Given the description of an element on the screen output the (x, y) to click on. 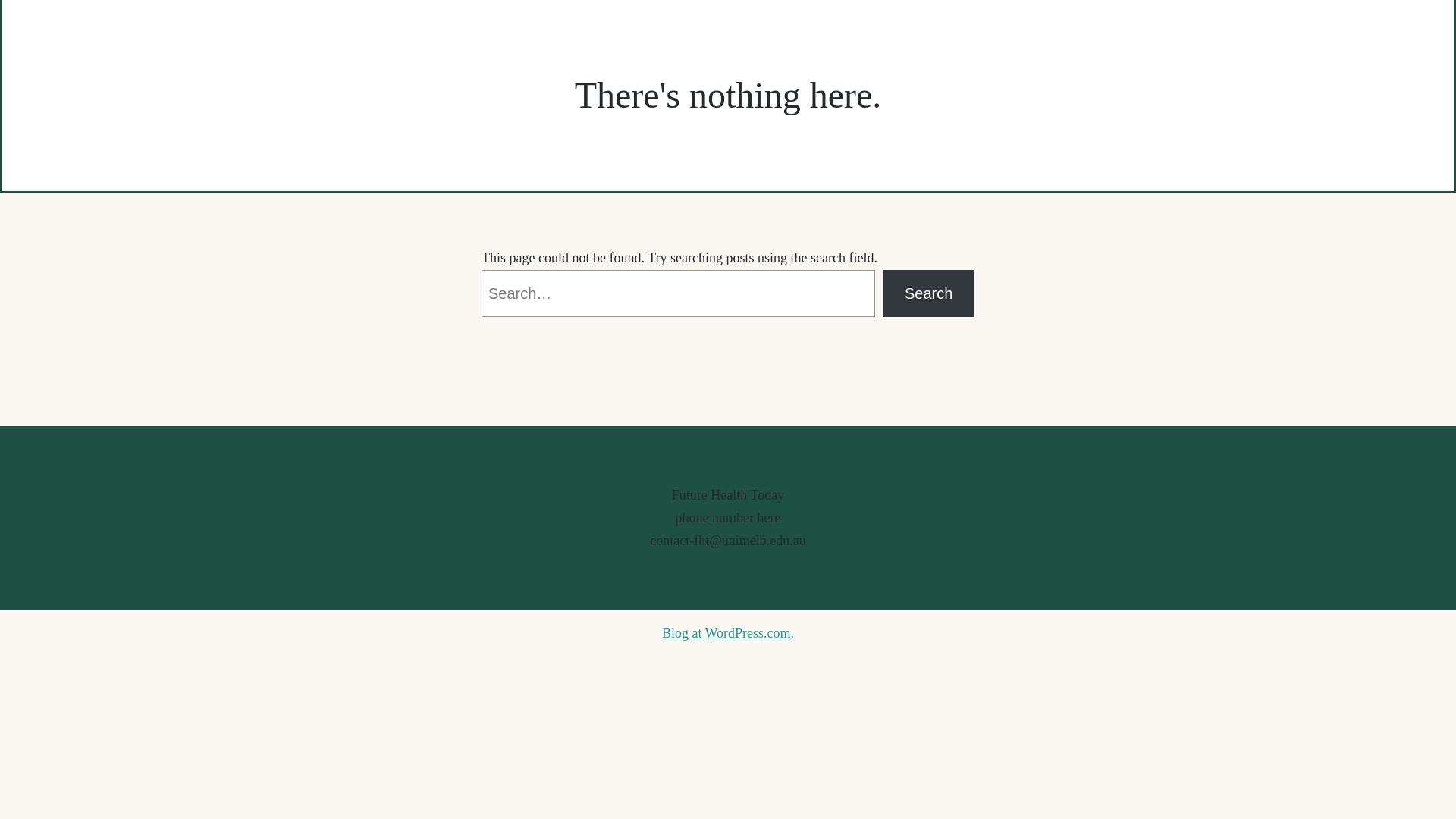
Search Element type: text (928, 293)
Blog at WordPress.com. Element type: text (727, 632)
